Given the description of an element on the screen output the (x, y) to click on. 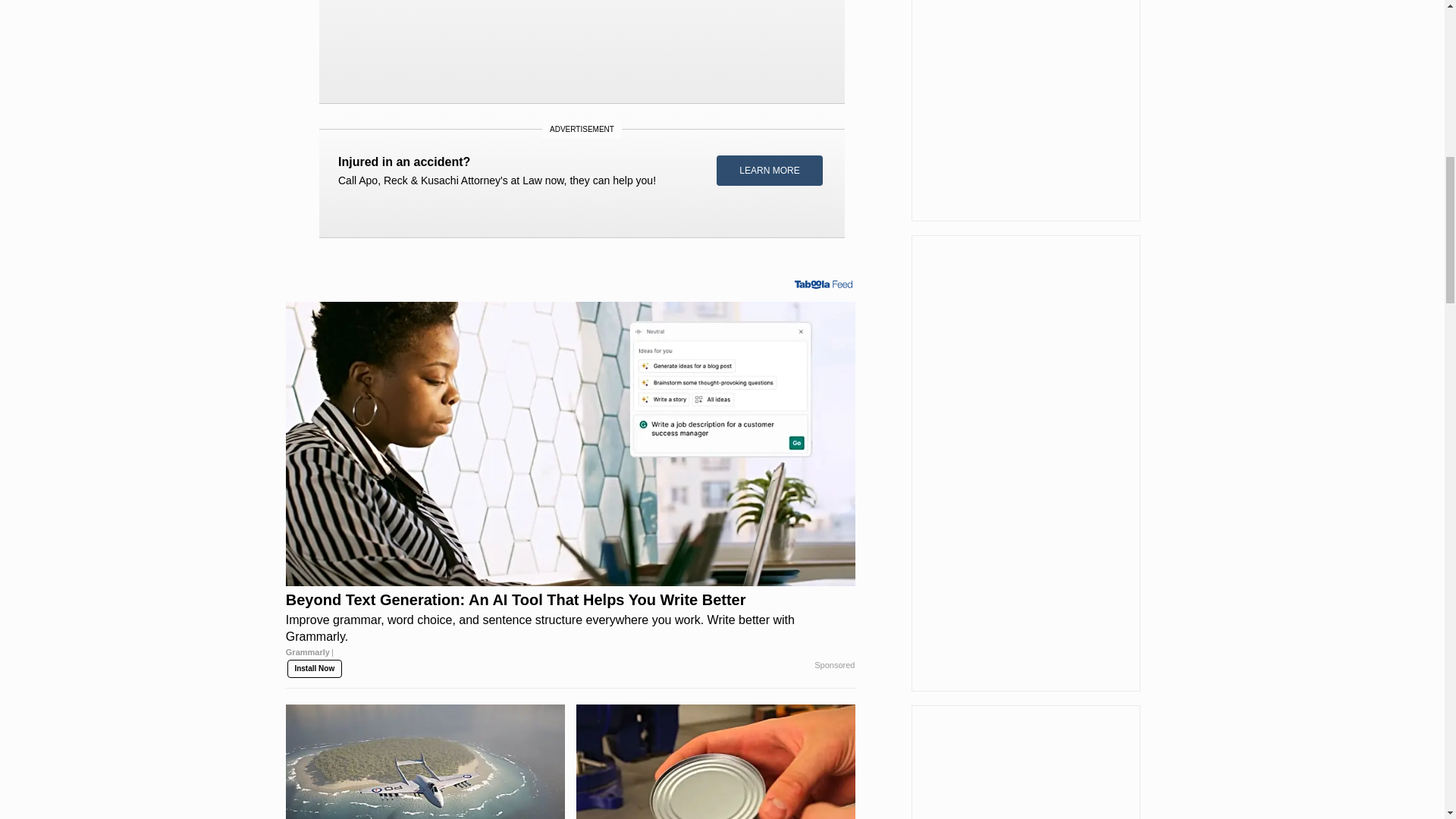
3rd party ad content (581, 45)
Arrow Up (1404, 15)
3rd party ad content (581, 174)
